Given the description of an element on the screen output the (x, y) to click on. 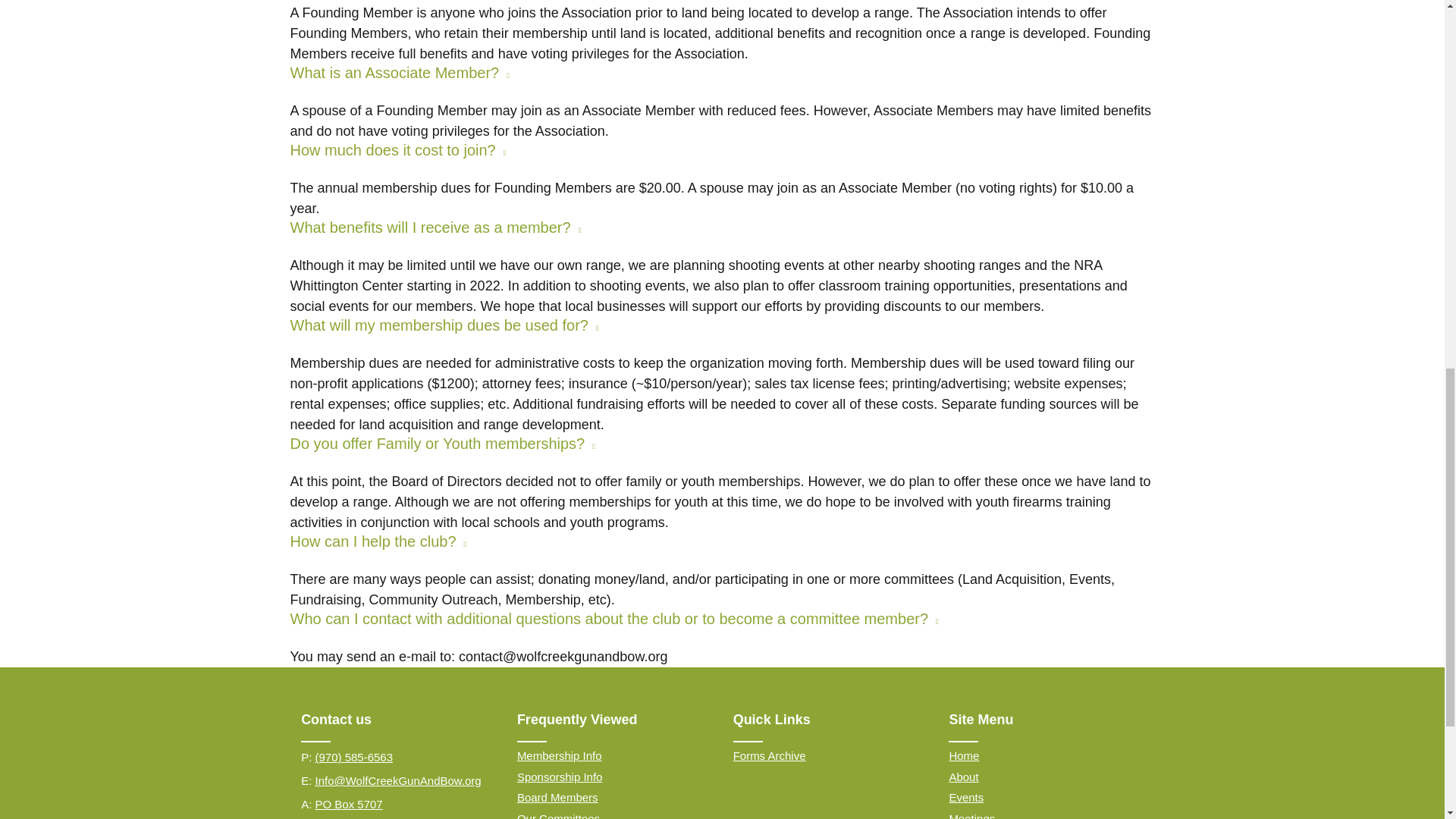
Forms Archive (769, 755)
Home (963, 755)
Our Committees (557, 815)
Sponsorship Info (559, 776)
Membership Info (559, 755)
Events (966, 797)
About (963, 776)
Board Members (557, 797)
